Given the description of an element on the screen output the (x, y) to click on. 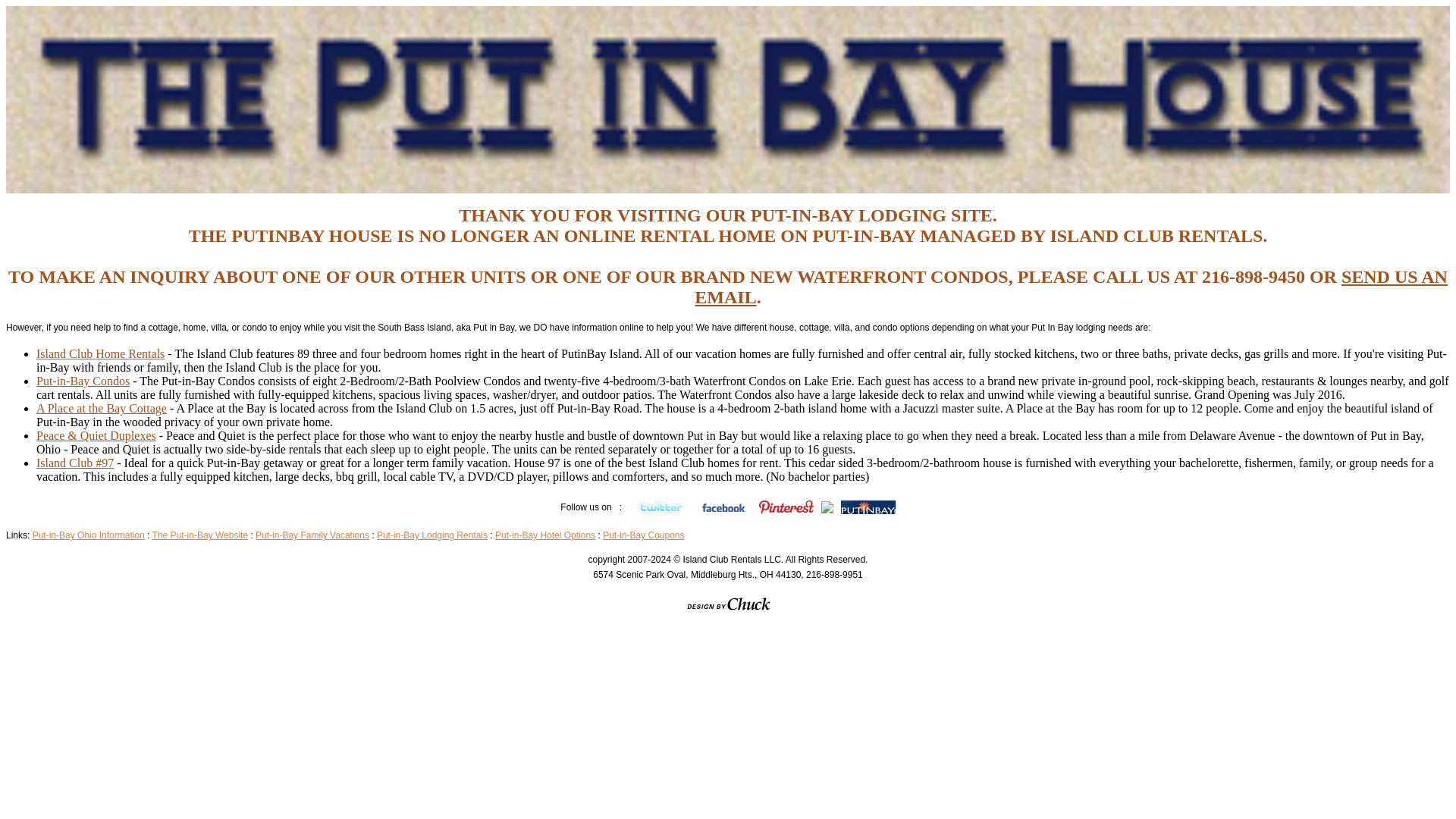
Island Club Home Rentals (100, 353)
Put-in-Bay Coupons (643, 534)
Put-in-Bay Condos (82, 380)
The Put-in-Bay Website (200, 534)
Put-in-Bay Lodging Rentals (432, 534)
Put-in-Bay Family Vacations (312, 534)
SEND US AN EMAIL (1070, 286)
Put-in-Bay Hotel Options (545, 534)
Put-in-Bay Ohio Information (88, 534)
A Place at the Bay Cottage (101, 408)
